Given the description of an element on the screen output the (x, y) to click on. 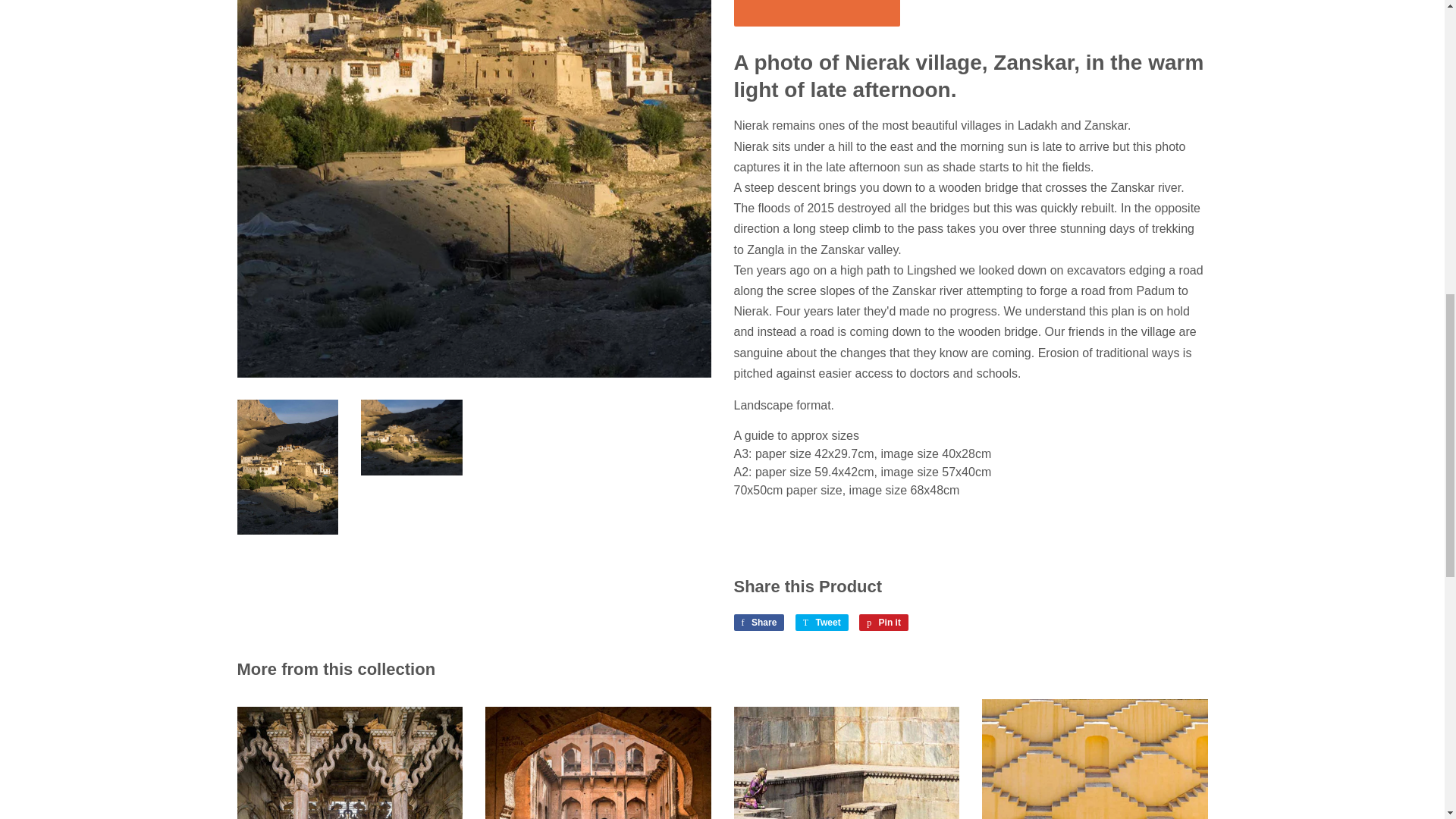
Pin on Pinterest (883, 622)
Tweet on Twitter (821, 622)
Share on Facebook (758, 622)
